Given the description of an element on the screen output the (x, y) to click on. 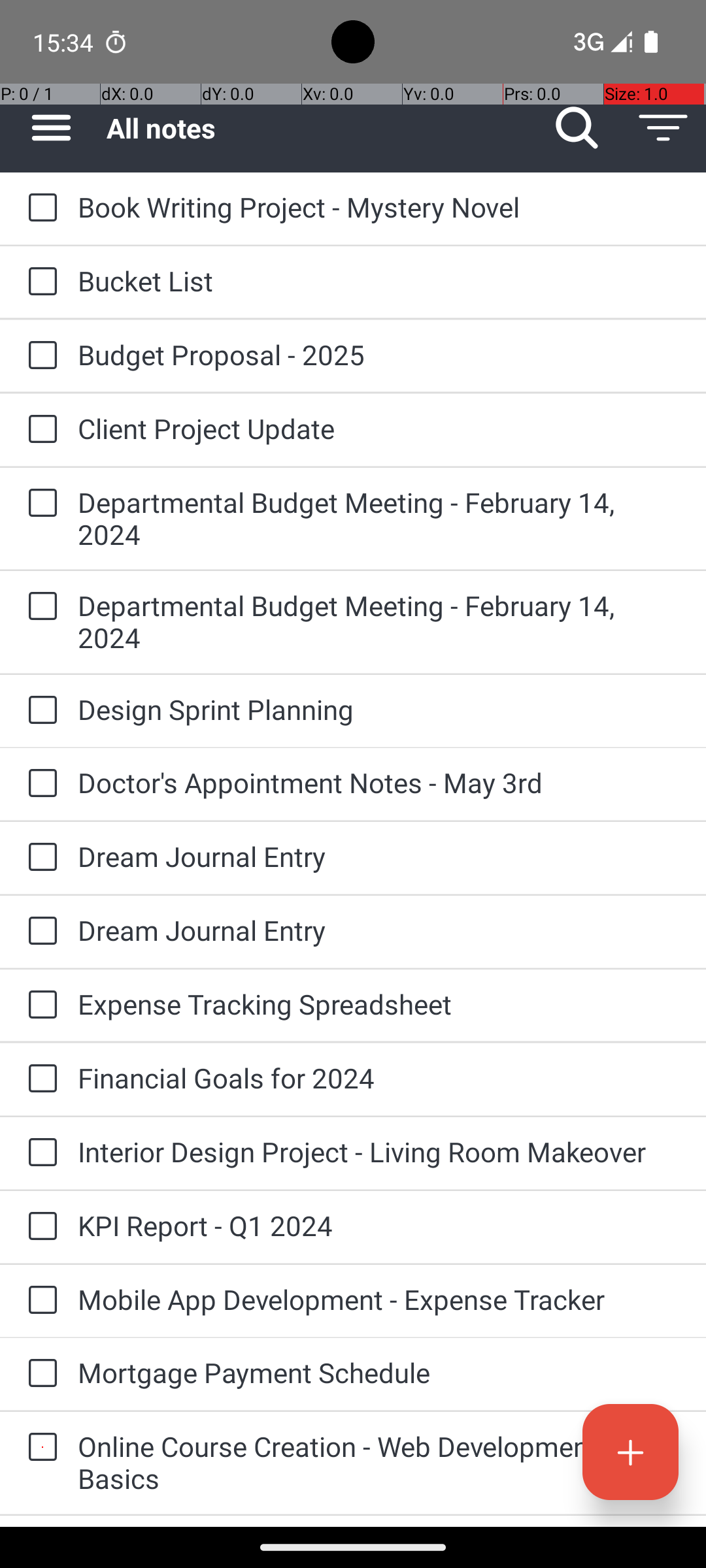
to-do: Book Writing Project - Mystery Novel Element type: android.widget.CheckBox (38, 208)
Book Writing Project - Mystery Novel Element type: android.widget.TextView (378, 206)
to-do: Bucket List Element type: android.widget.CheckBox (38, 282)
Bucket List Element type: android.widget.TextView (378, 280)
to-do: Budget Proposal - 2025 Element type: android.widget.CheckBox (38, 356)
Budget Proposal - 2025 Element type: android.widget.TextView (378, 354)
to-do: Client Project Update Element type: android.widget.CheckBox (38, 429)
Client Project Update Element type: android.widget.TextView (378, 427)
to-do: Departmental Budget Meeting - February 14, 2024 Element type: android.widget.CheckBox (38, 503)
Departmental Budget Meeting - February 14, 2024 Element type: android.widget.TextView (378, 517)
to-do: Doctor's Appointment Notes - May 3rd Element type: android.widget.CheckBox (38, 783)
Doctor's Appointment Notes - May 3rd Element type: android.widget.TextView (378, 781)
to-do: Dream Journal Entry Element type: android.widget.CheckBox (38, 857)
Dream Journal Entry Element type: android.widget.TextView (378, 855)
to-do: Expense Tracking Spreadsheet Element type: android.widget.CheckBox (38, 1005)
to-do: Financial Goals for 2024 Element type: android.widget.CheckBox (38, 1079)
Financial Goals for 2024 Element type: android.widget.TextView (378, 1077)
to-do: Interior Design Project - Living Room Makeover Element type: android.widget.CheckBox (38, 1153)
Interior Design Project - Living Room Makeover Element type: android.widget.TextView (378, 1151)
to-do: KPI Report - Q1 2024 Element type: android.widget.CheckBox (38, 1226)
KPI Report - Q1 2024 Element type: android.widget.TextView (378, 1224)
to-do: Mobile App Development - Expense Tracker Element type: android.widget.CheckBox (38, 1300)
Mobile App Development - Expense Tracker Element type: android.widget.TextView (378, 1298)
to-do: Mortgage Payment Schedule Element type: android.widget.CheckBox (38, 1373)
Mortgage Payment Schedule Element type: android.widget.TextView (378, 1371)
to-do: Packing List - Beach Vacation Element type: android.widget.CheckBox (38, 1520)
